Given the description of an element on the screen output the (x, y) to click on. 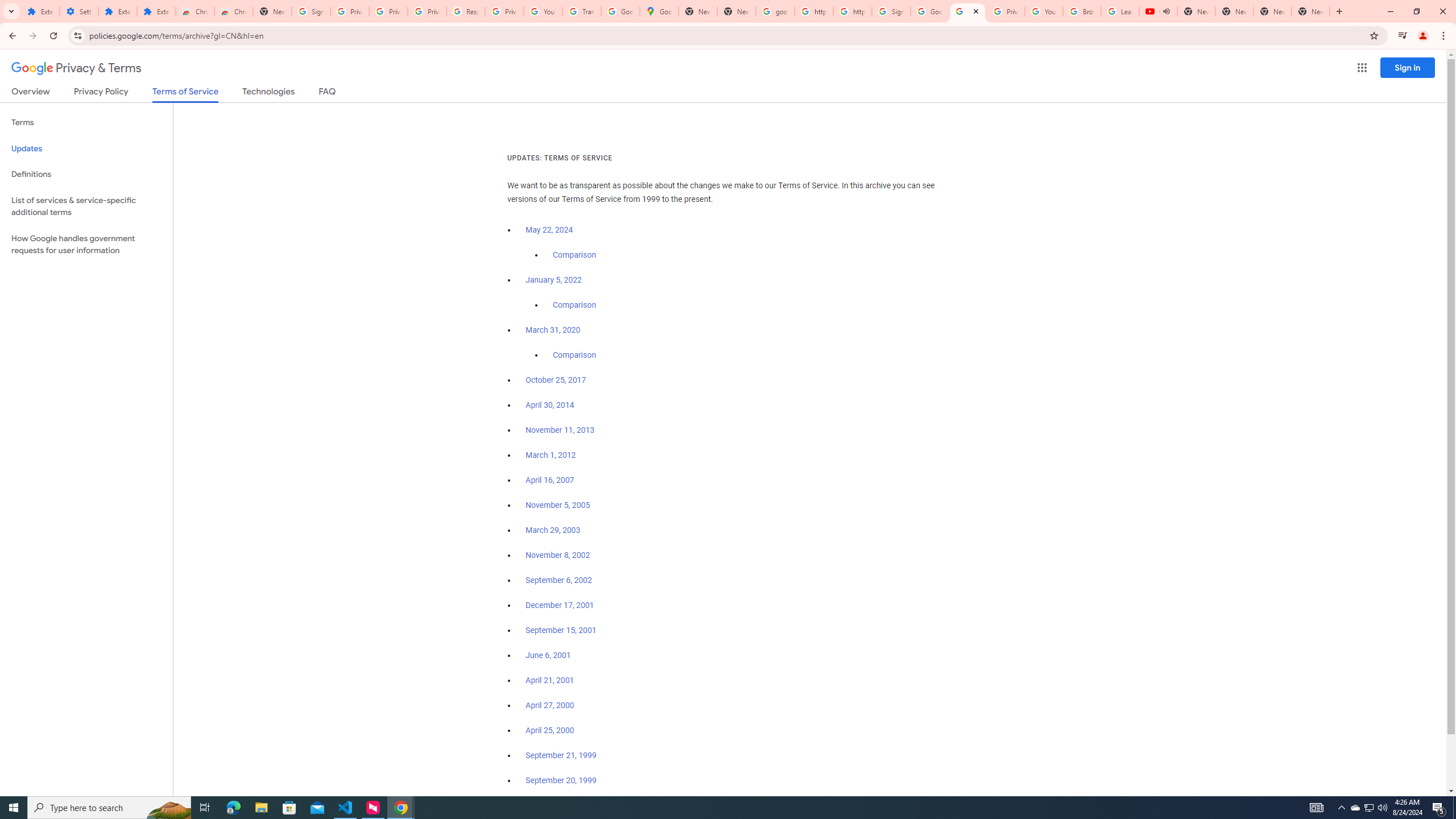
System (6, 6)
List of services & service-specific additional terms (86, 206)
Browse Chrome as a guest - Computer - Google Chrome Help (1082, 11)
Privacy & Terms (76, 68)
Chrome Web Store - Themes (233, 11)
Sign in - Google Accounts (890, 11)
September 20, 1999 (560, 780)
Comparison (574, 355)
Extensions (40, 11)
November 8, 2002 (557, 555)
Mute tab (1165, 10)
